Given the description of an element on the screen output the (x, y) to click on. 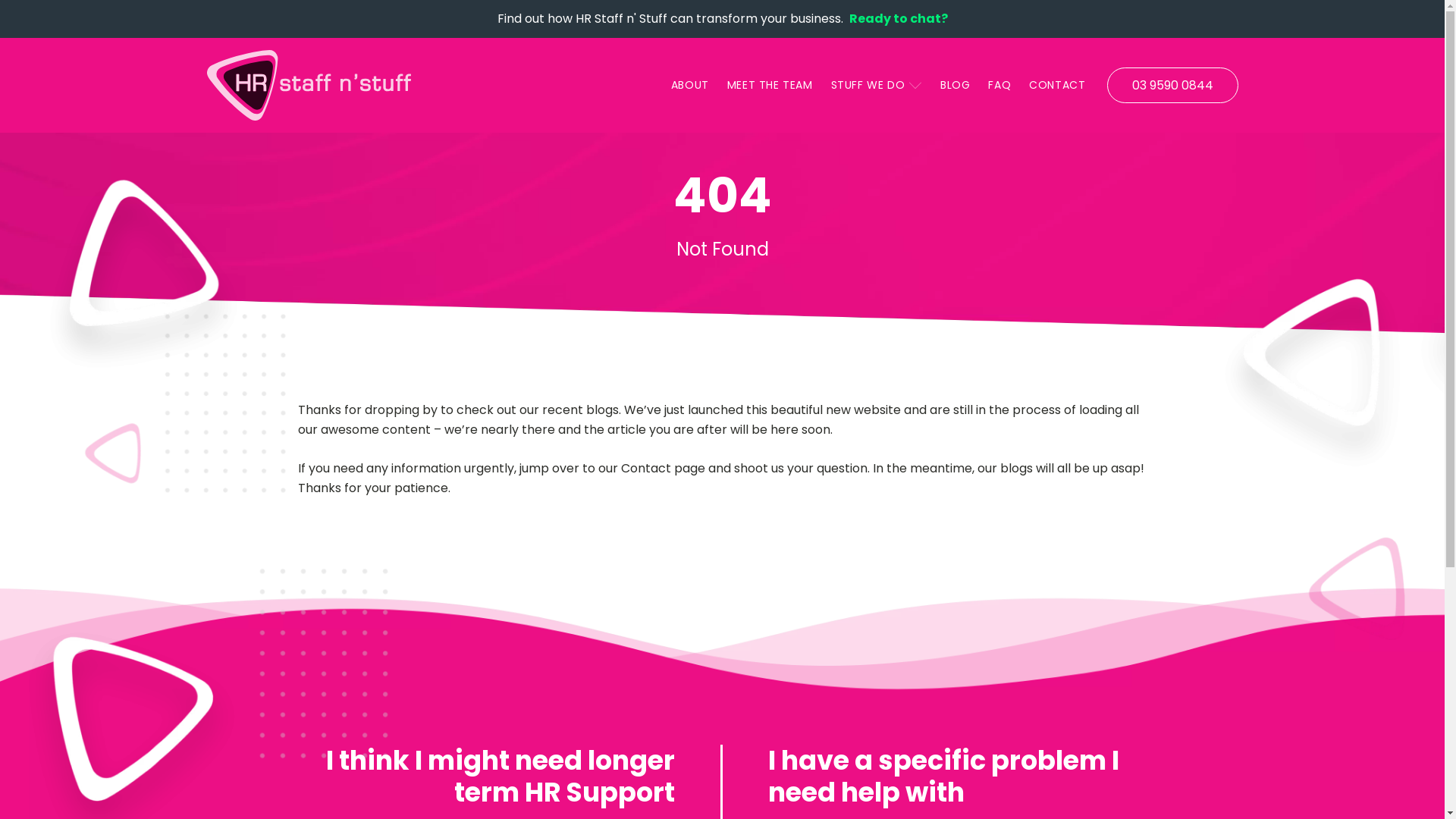
STUFF WE DO Element type: text (876, 84)
BLOG Element type: text (955, 84)
MEET THE TEAM Element type: text (770, 84)
Ready to chat? Element type: text (898, 18)
FAQ Element type: text (999, 84)
ABOUT Element type: text (690, 84)
03 9590 0844 Element type: text (1172, 85)
CONTACT Element type: text (1056, 84)
